Given the description of an element on the screen output the (x, y) to click on. 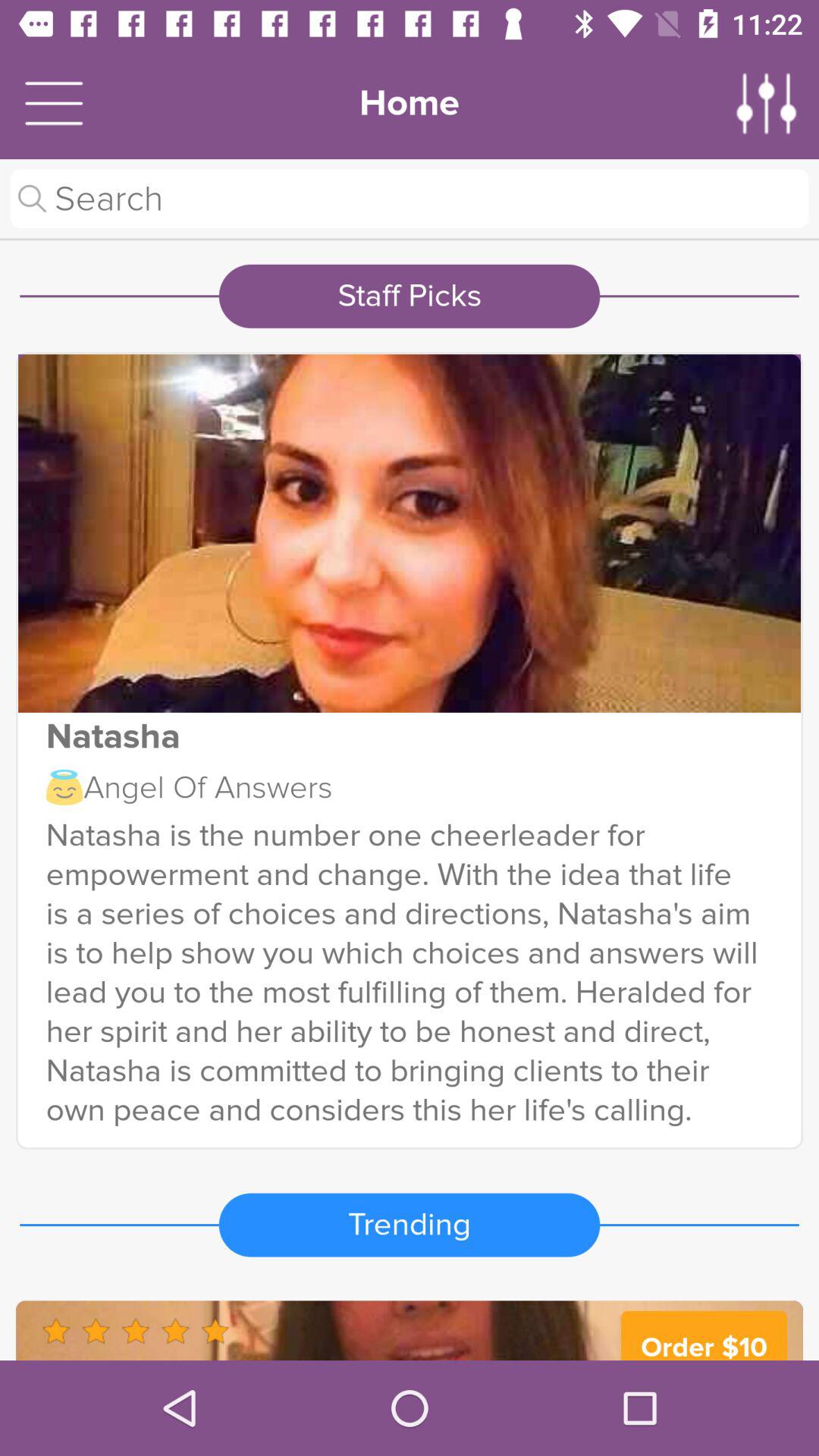
search the website (409, 198)
